Given the description of an element on the screen output the (x, y) to click on. 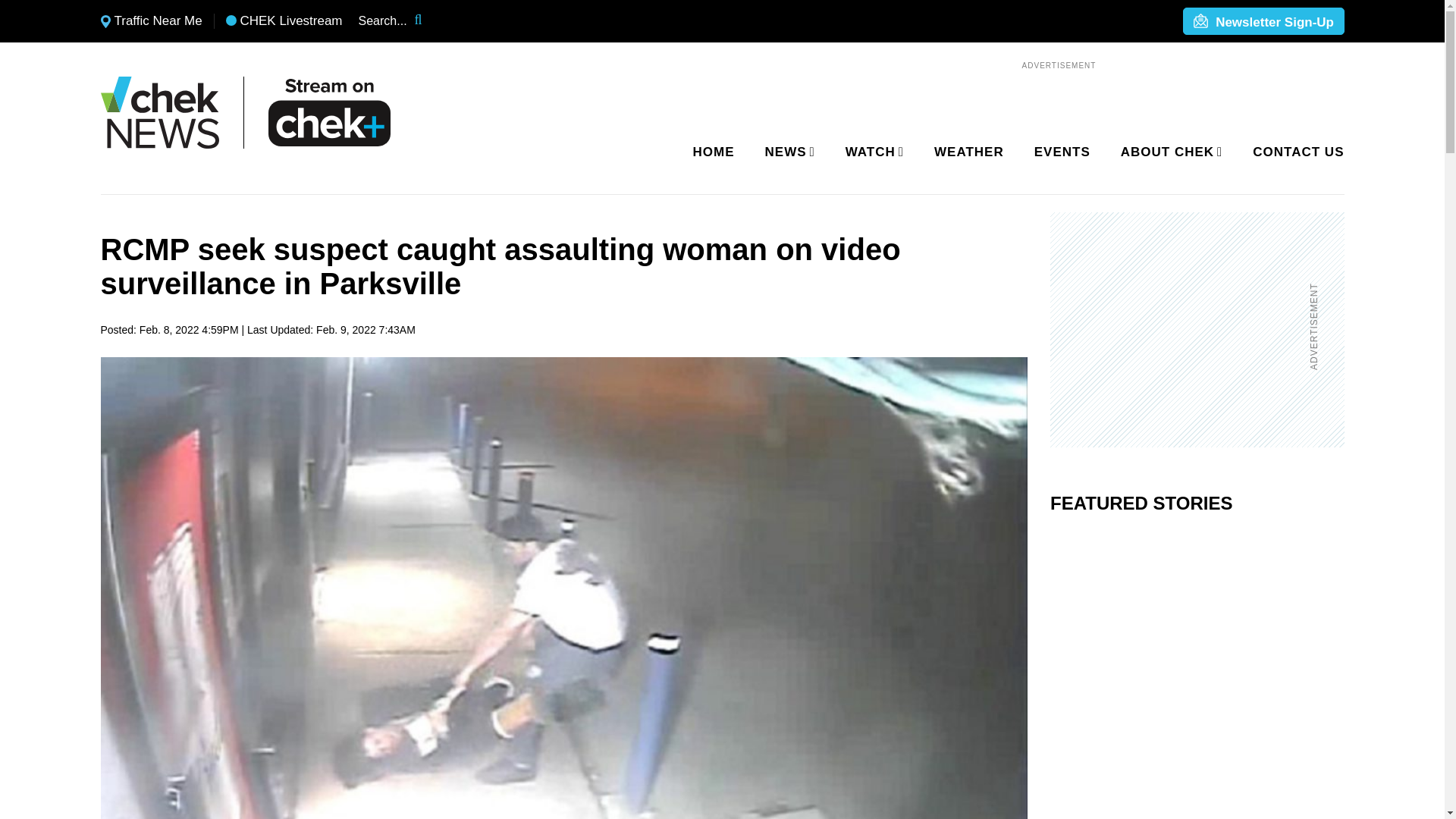
CHEK Livestream (283, 20)
HOME (714, 152)
Search (428, 21)
Traffic Near Me (151, 20)
NEWS (787, 152)
Newsletter Sign-Up (1262, 22)
